Given the description of an element on the screen output the (x, y) to click on. 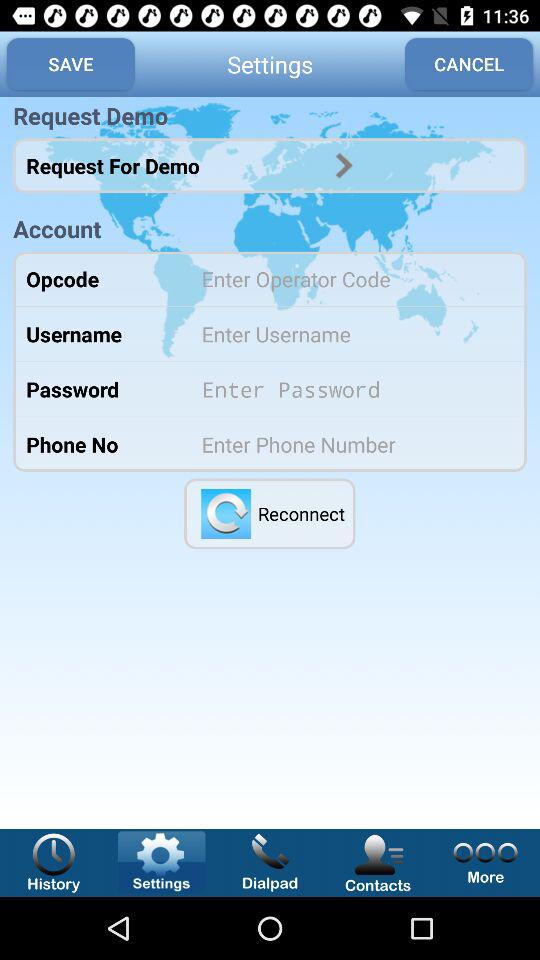
launch icon to the right of the settings app (469, 64)
